Given the description of an element on the screen output the (x, y) to click on. 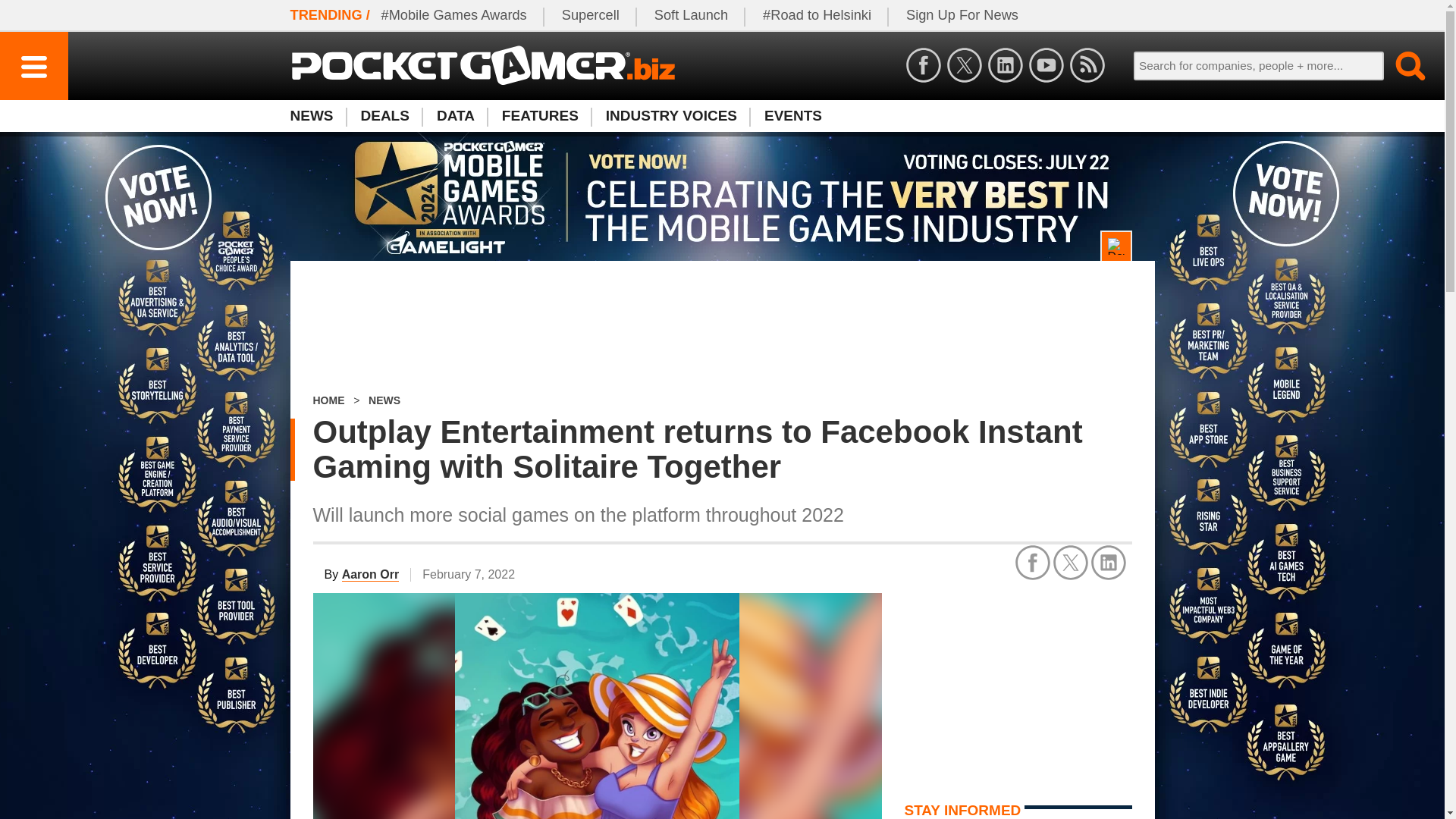
Go (1402, 65)
Aaron Orr (370, 575)
NEWS (384, 400)
EVENTS (721, 115)
3rd party ad content (793, 115)
Soft Launch (1017, 687)
Supercell (691, 15)
HOME (590, 15)
FEATURES (328, 400)
Sign Up For News (539, 115)
3rd party ad content (961, 15)
DEALS (722, 328)
Go (385, 115)
INDUSTRY VOICES (1402, 65)
